Given the description of an element on the screen output the (x, y) to click on. 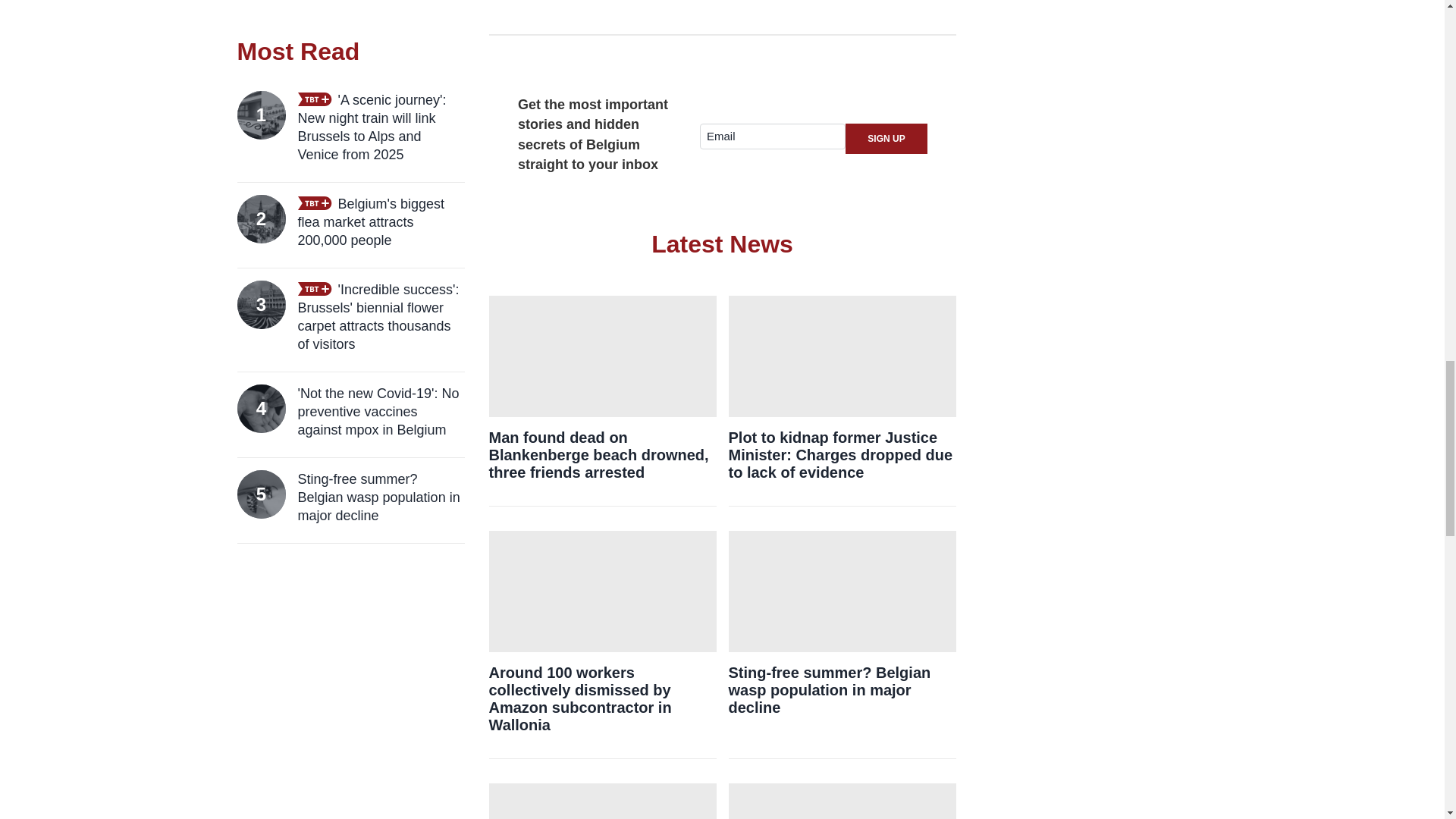
Sting-free summer? Belgian wasp population in major decline (841, 690)
